Given the description of an element on the screen output the (x, y) to click on. 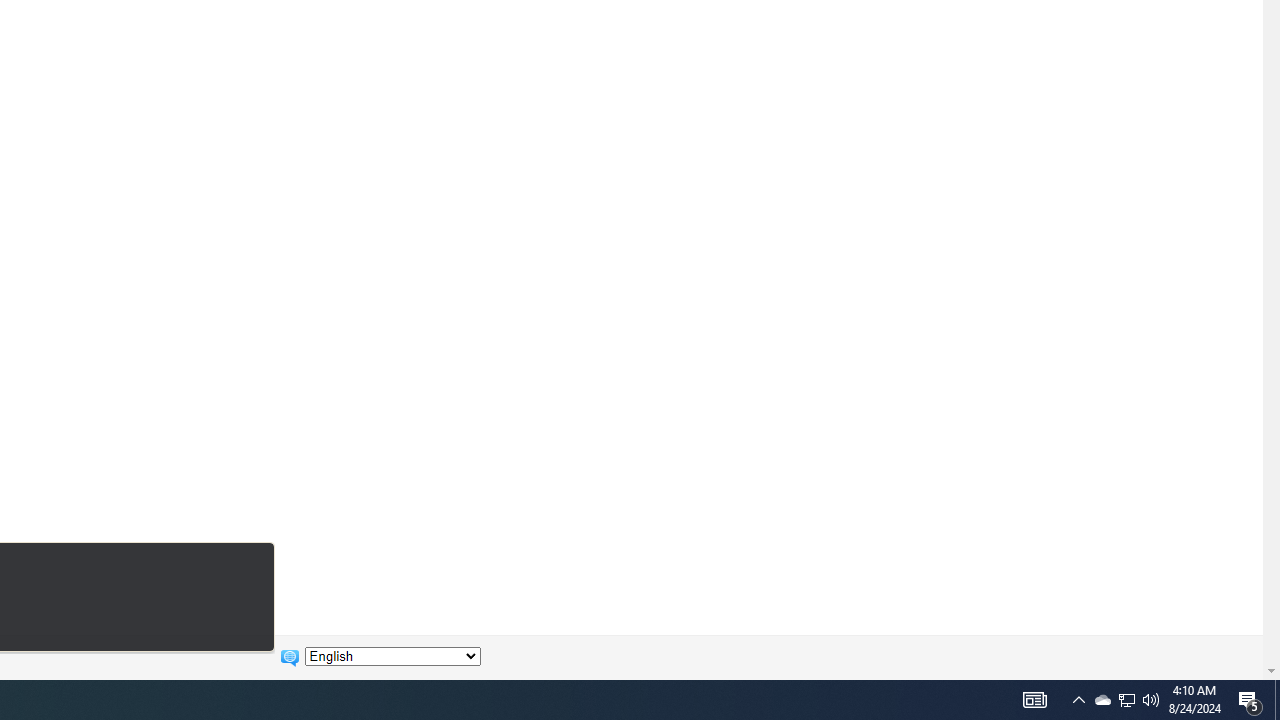
Change language: (392, 656)
